Given the description of an element on the screen output the (x, y) to click on. 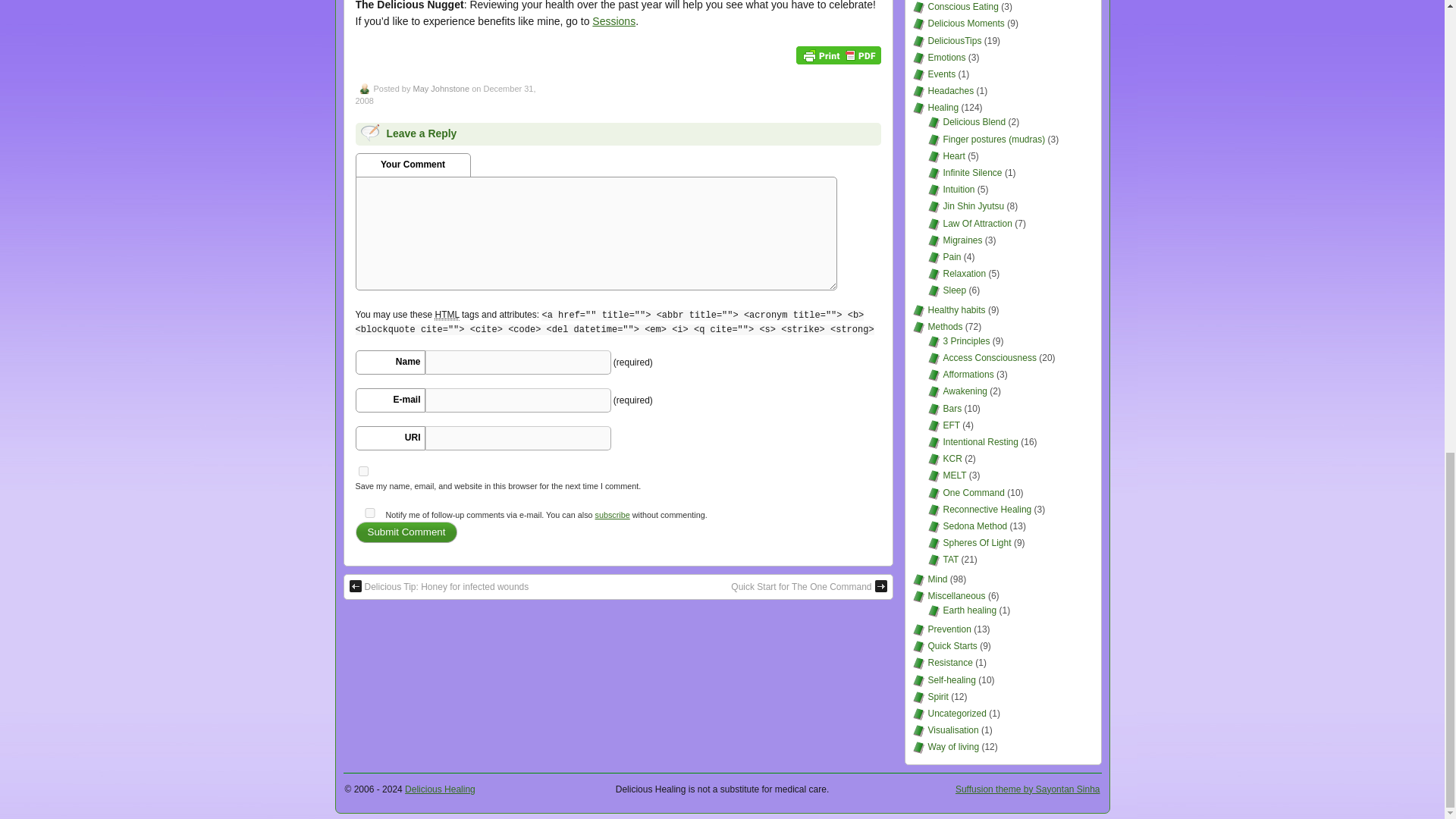
Submit Comment (406, 531)
subscribe (612, 514)
Sessions (613, 21)
  Delicious Tip: Honey for infected wounds (438, 586)
yes (369, 512)
yes (363, 470)
Submit Comment (406, 531)
HyperText Markup Language (445, 315)
May Johnstone (440, 88)
  Quick Start for The One Command (808, 586)
